Given the description of an element on the screen output the (x, y) to click on. 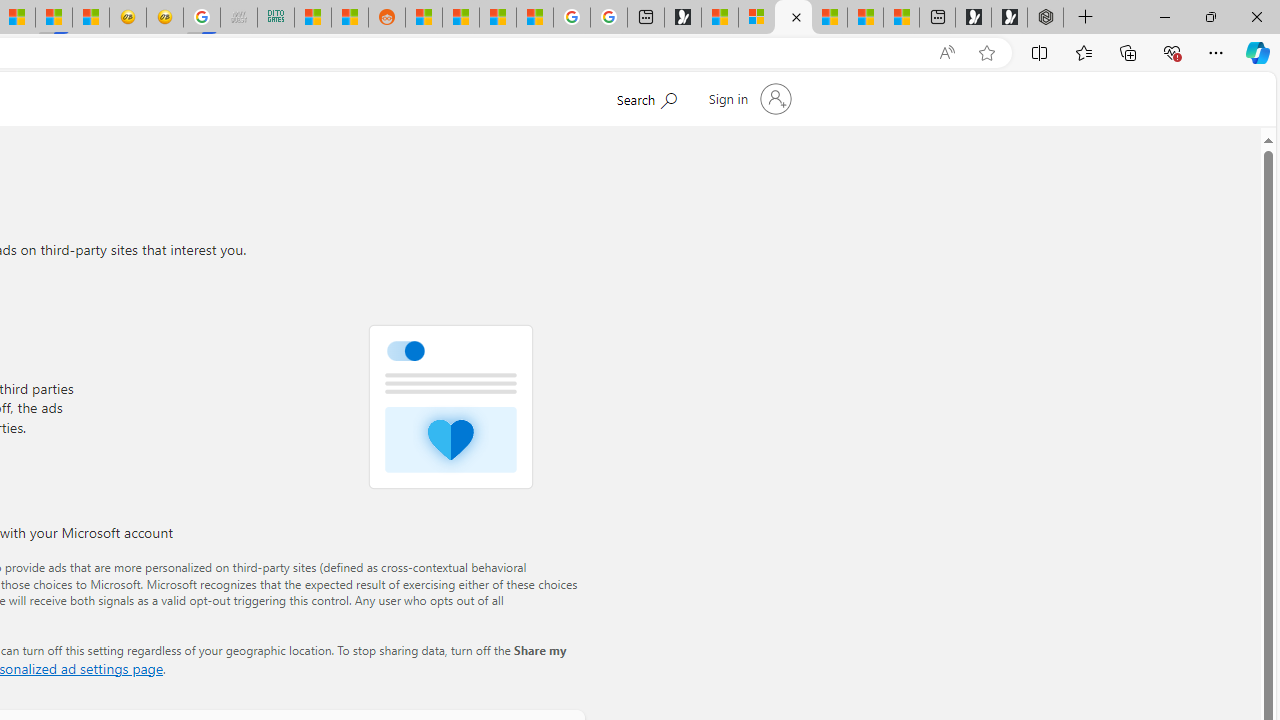
Search Microsoft.com (646, 97)
R******* | Trusted Community Engagement and Contributions (423, 17)
